Given the description of an element on the screen output the (x, y) to click on. 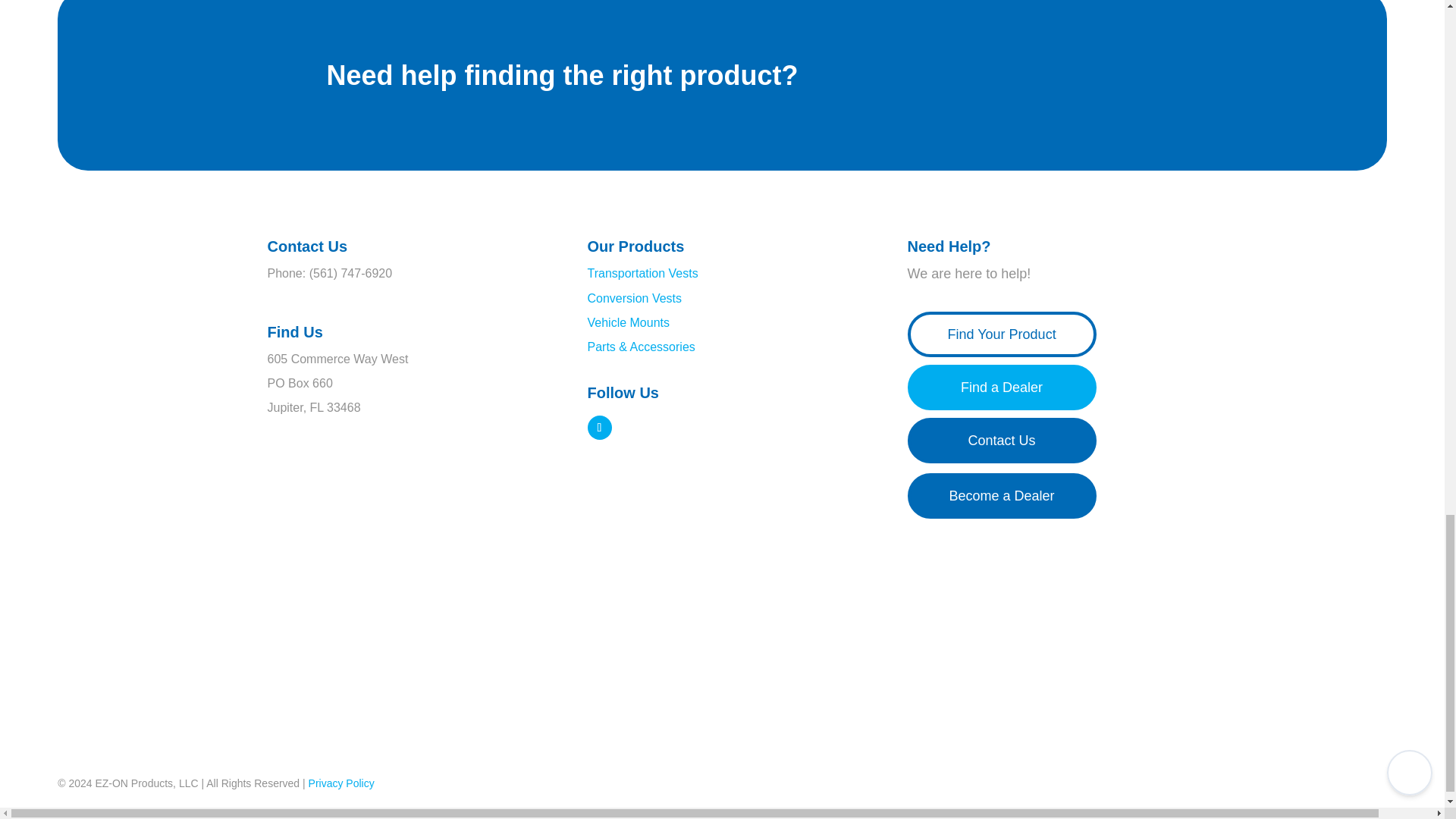
Vehicle Mounts (627, 322)
Find a Dealer (1001, 387)
Transportation Vests (641, 273)
Follow on Facebook (598, 427)
Become a Dealer (1001, 495)
Find Your Product (1001, 334)
Conversion Vests (633, 297)
Contact Us (1001, 440)
Privacy Policy (341, 783)
